Given the description of an element on the screen output the (x, y) to click on. 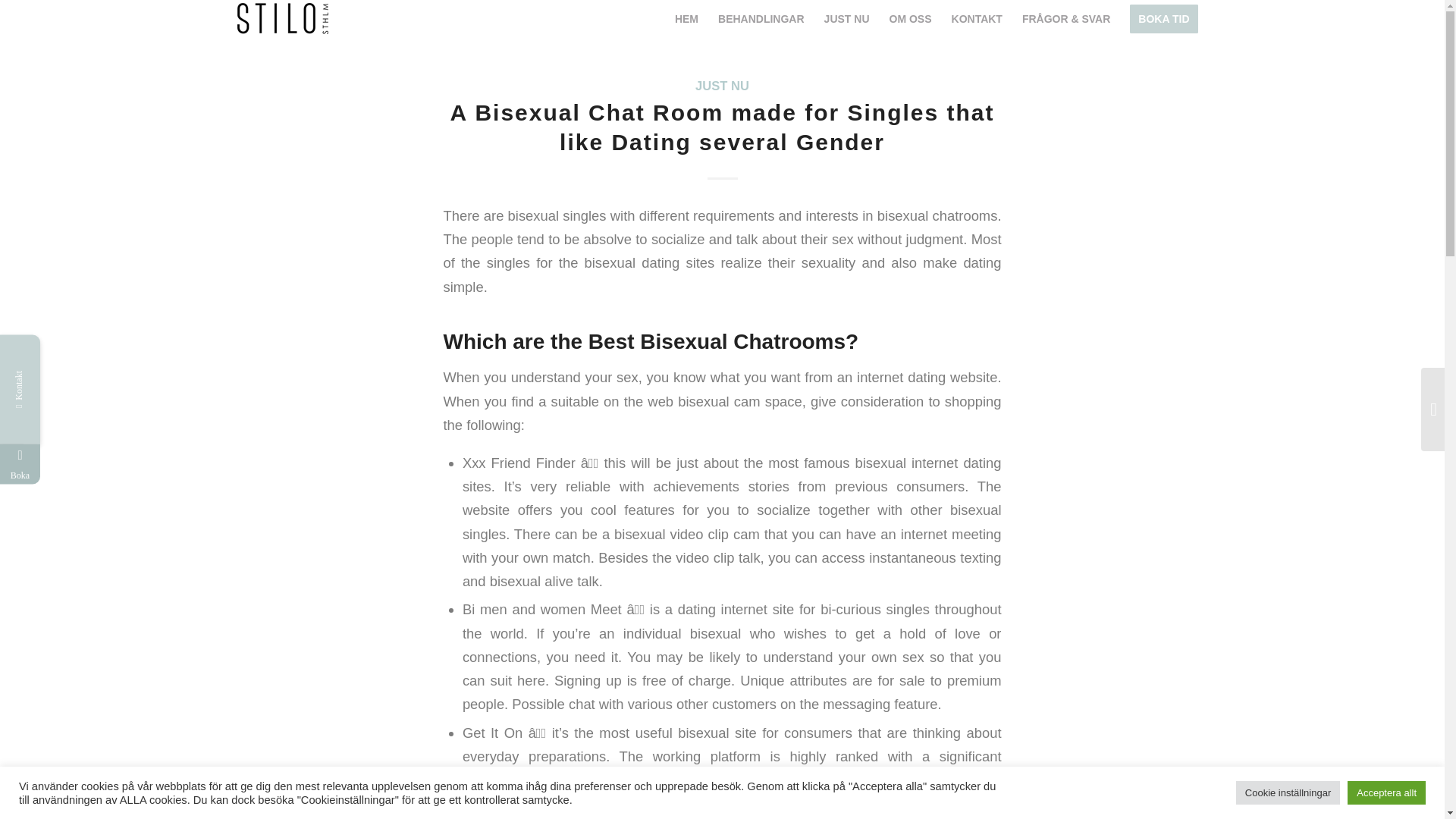
HEM (686, 18)
OM OSS (910, 18)
KONTAKT (976, 18)
BEHANDLINGAR (760, 18)
Acceptera allt (1386, 792)
logo (281, 17)
BOKA TID (1163, 18)
JUST NU (846, 18)
JUST NU (722, 85)
logo (281, 18)
